Given the description of an element on the screen output the (x, y) to click on. 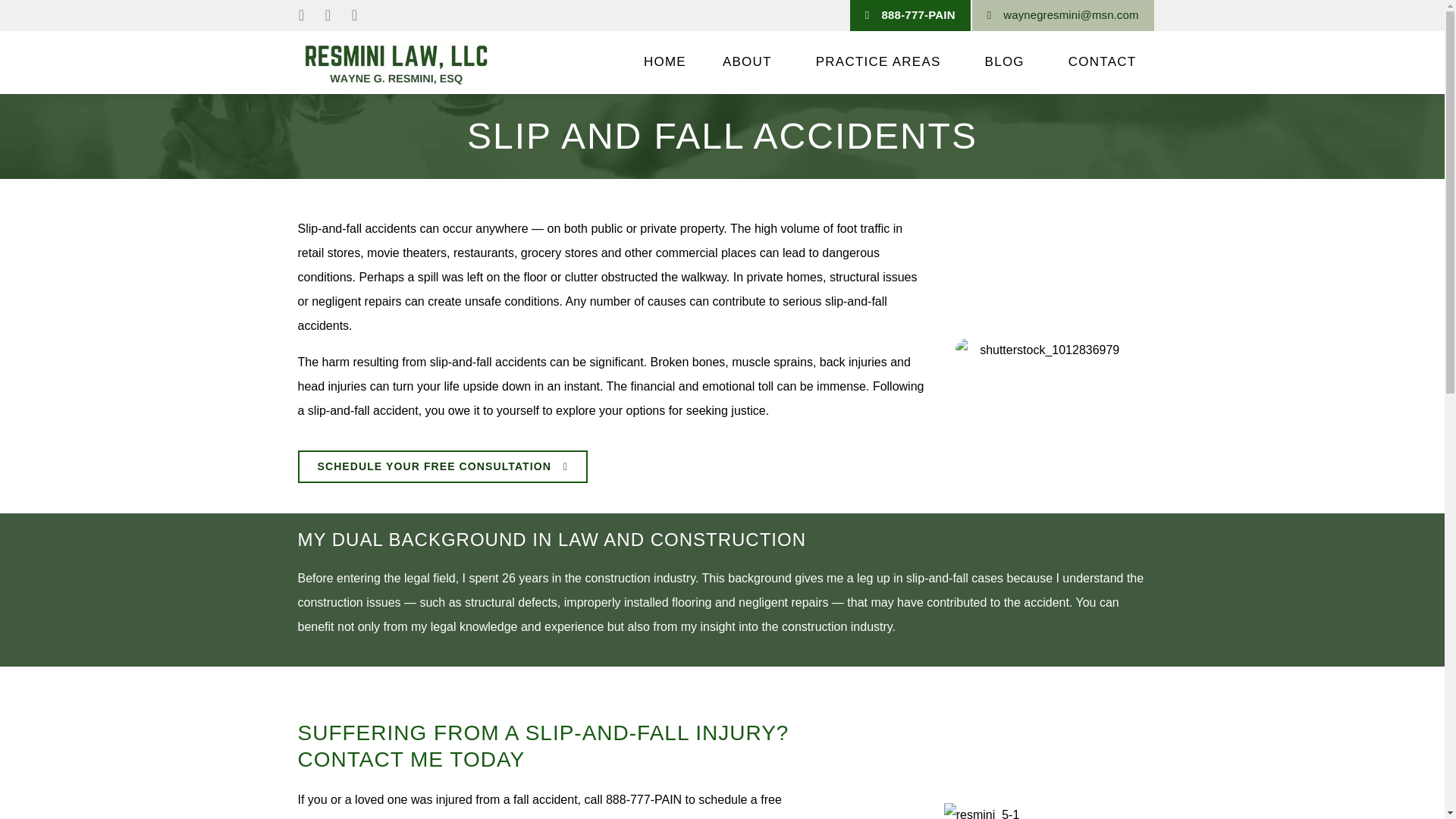
PRACTICE AREAS (881, 61)
HOME (665, 61)
888-777-PAIN (910, 15)
ABOUT (750, 61)
